Given the description of an element on the screen output the (x, y) to click on. 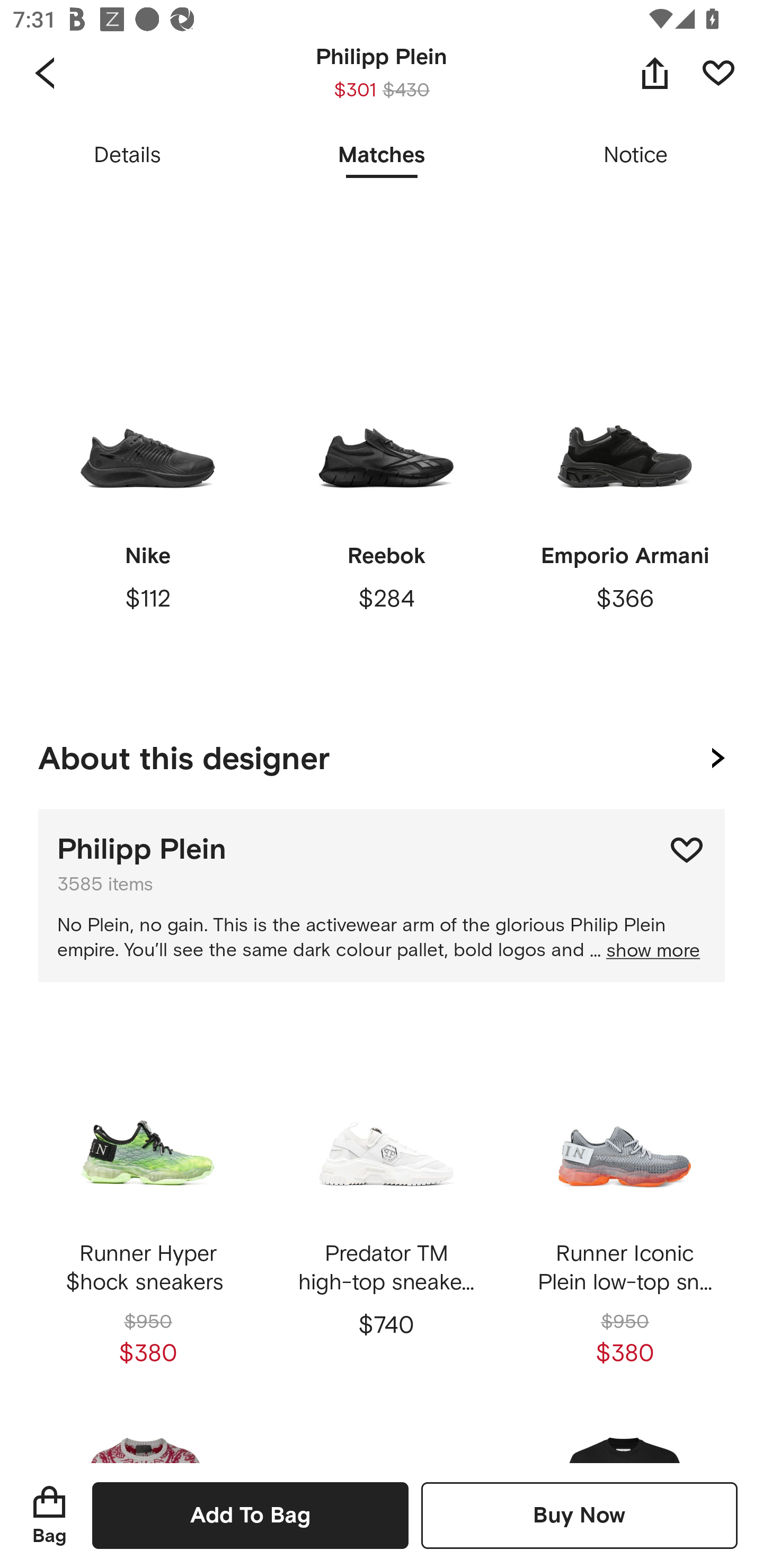
$159 (385, 145)
Details (127, 155)
Notice (635, 155)
Nike $112 (147, 505)
Reebok $284 (385, 505)
Emporio Armani $366 (624, 505)
About this designer (381, 754)
Runner Hyper $hock sneakers  $950 $380 (147, 1203)
Predator TM high-top sneakers  $740 (385, 1203)
Runner Iconic Plein low-top sneakers $950 $380 (624, 1203)
Bag (49, 1515)
Add To Bag (250, 1515)
Buy Now (579, 1515)
